Given the description of an element on the screen output the (x, y) to click on. 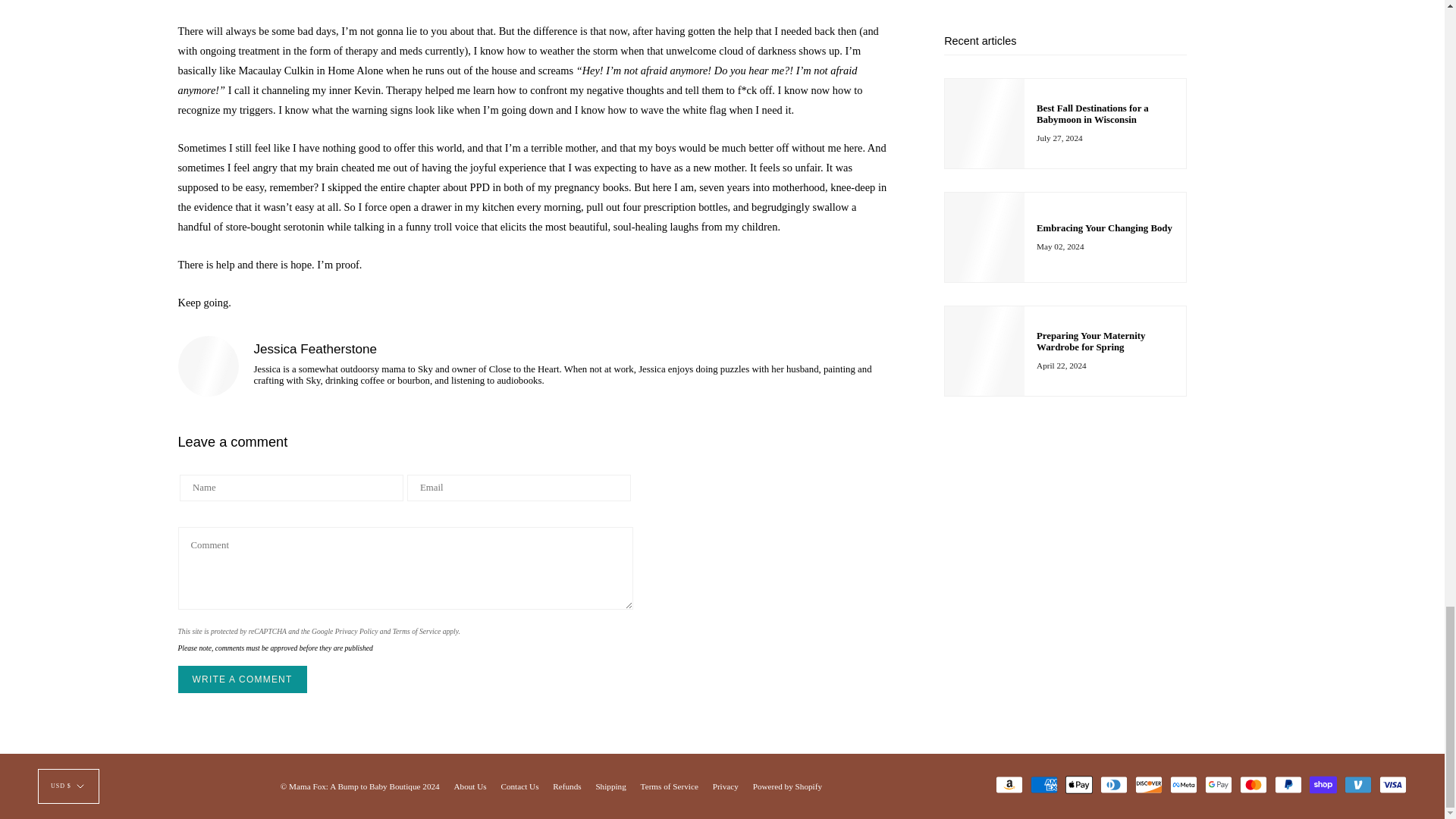
Mastercard (1253, 784)
Write a comment (241, 678)
Discover (1148, 784)
Diners Club (1113, 784)
Amazon (1009, 784)
Meta Pay (1183, 784)
Apple Pay (1079, 784)
American Express (1044, 784)
Google Pay (1218, 784)
PayPal (1288, 784)
